Given the description of an element on the screen output the (x, y) to click on. 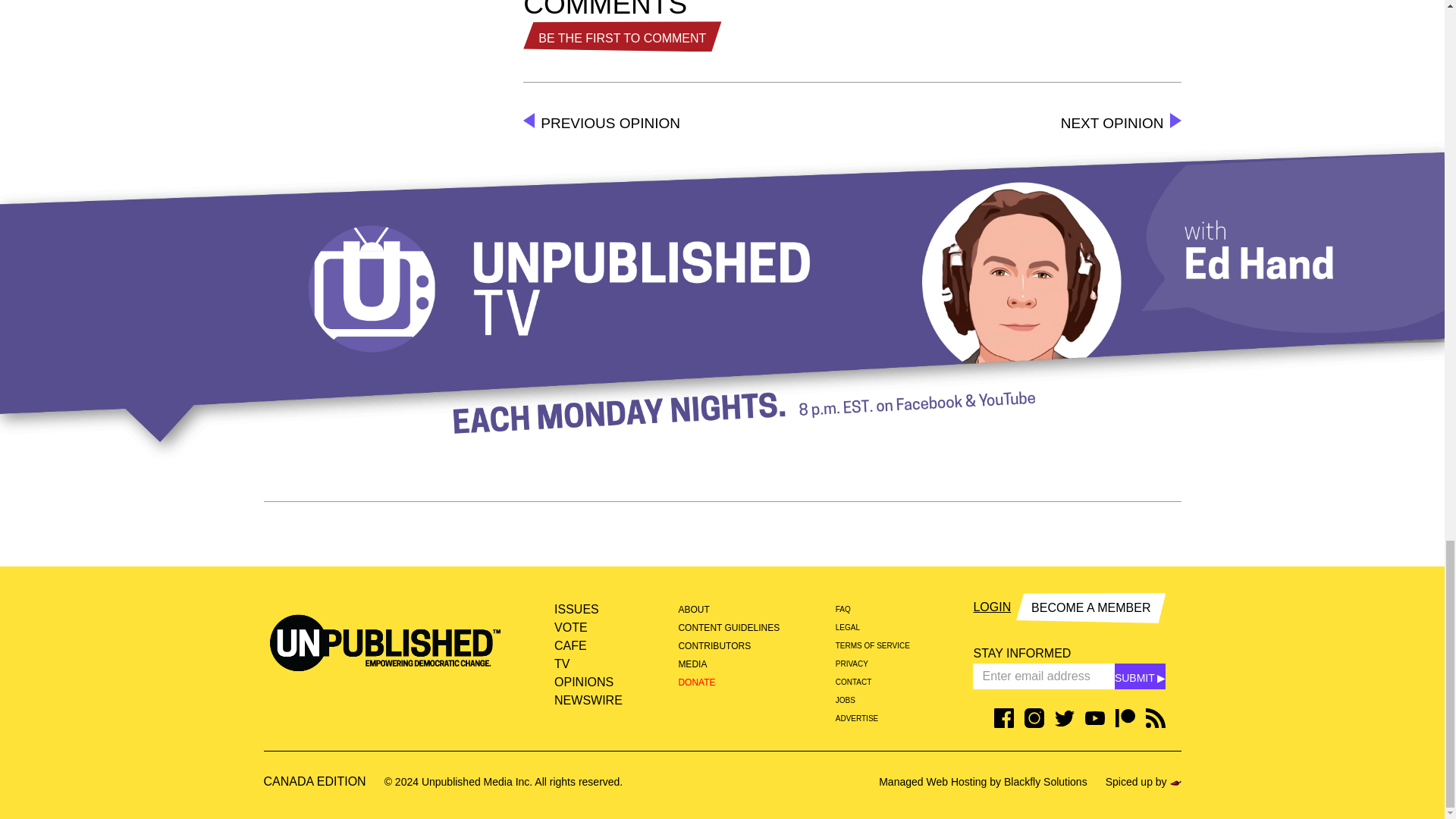
Next opinion (1120, 123)
Previous opinion (600, 123)
TV (588, 664)
NEXT OPINION (1120, 123)
BE THE FIRST TO COMMENT (621, 36)
PREVIOUS OPINION (600, 123)
ISSUES (588, 609)
VOTE (588, 628)
OPINIONS (588, 682)
CAFE (588, 646)
